Given the description of an element on the screen output the (x, y) to click on. 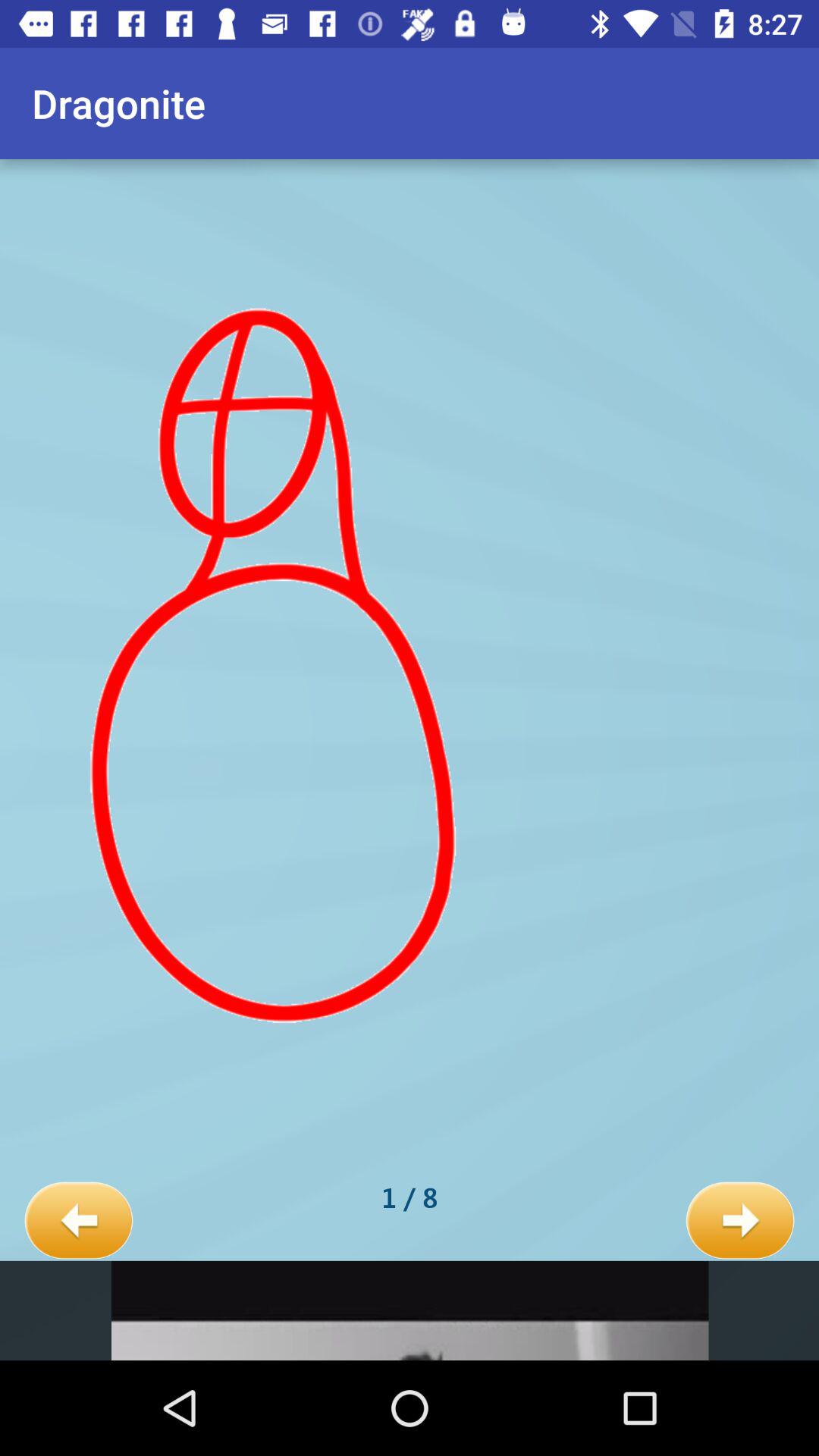
tap item to the left of 1 / 8 icon (78, 1220)
